Given the description of an element on the screen output the (x, y) to click on. 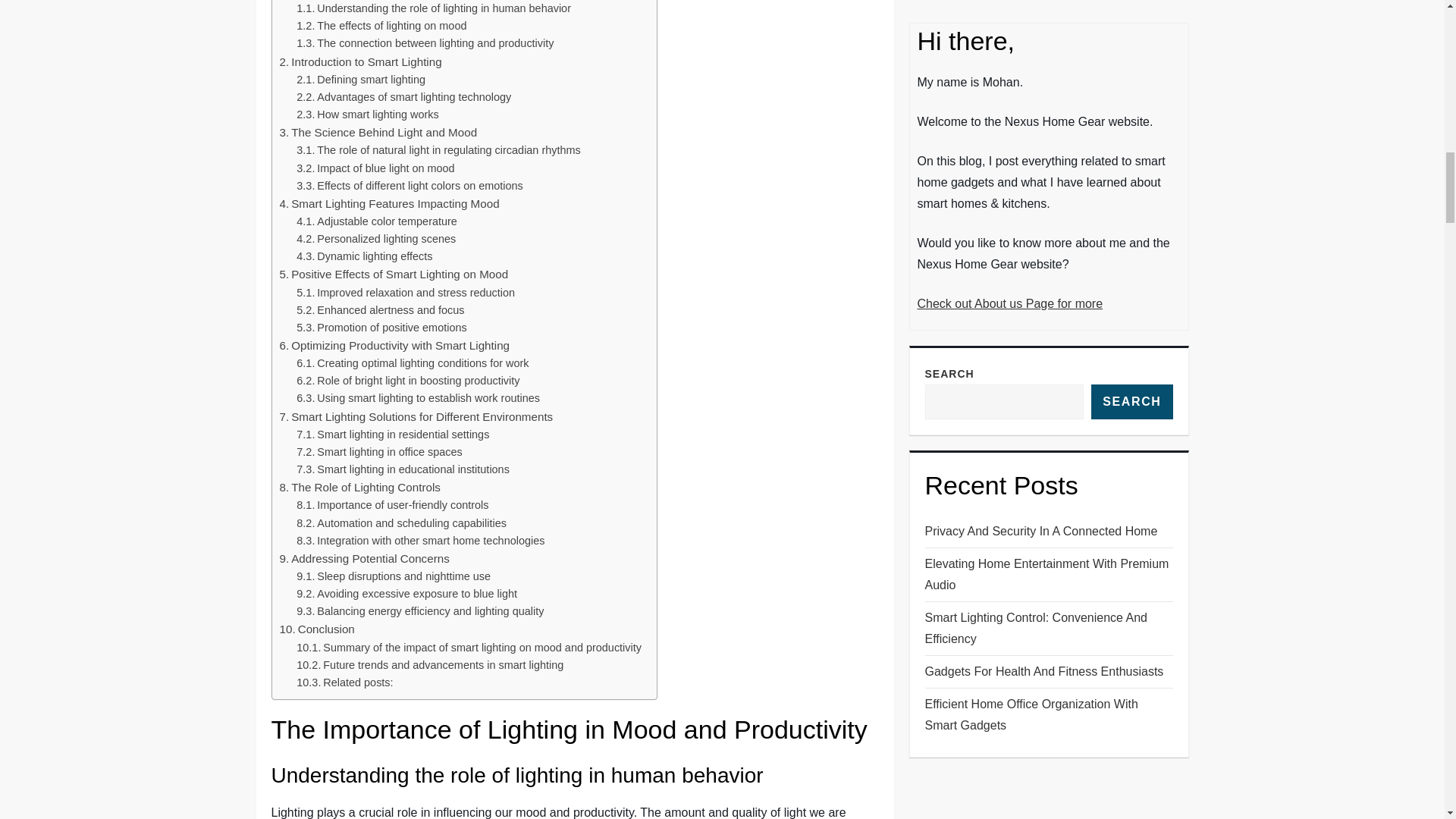
Improved relaxation and stress reduction (406, 293)
The Science Behind Light and Mood (378, 132)
Introduction to Smart Lighting (360, 62)
Role of bright light in boosting productivity (408, 380)
Smart Lighting Features Impacting Mood (389, 203)
Smart Lighting Features Impacting Mood (389, 203)
Defining smart lighting (361, 79)
The Science Behind Light and Mood (378, 132)
Smart lighting in residential settings (393, 434)
The connection between lighting and productivity (425, 43)
